Given the description of an element on the screen output the (x, y) to click on. 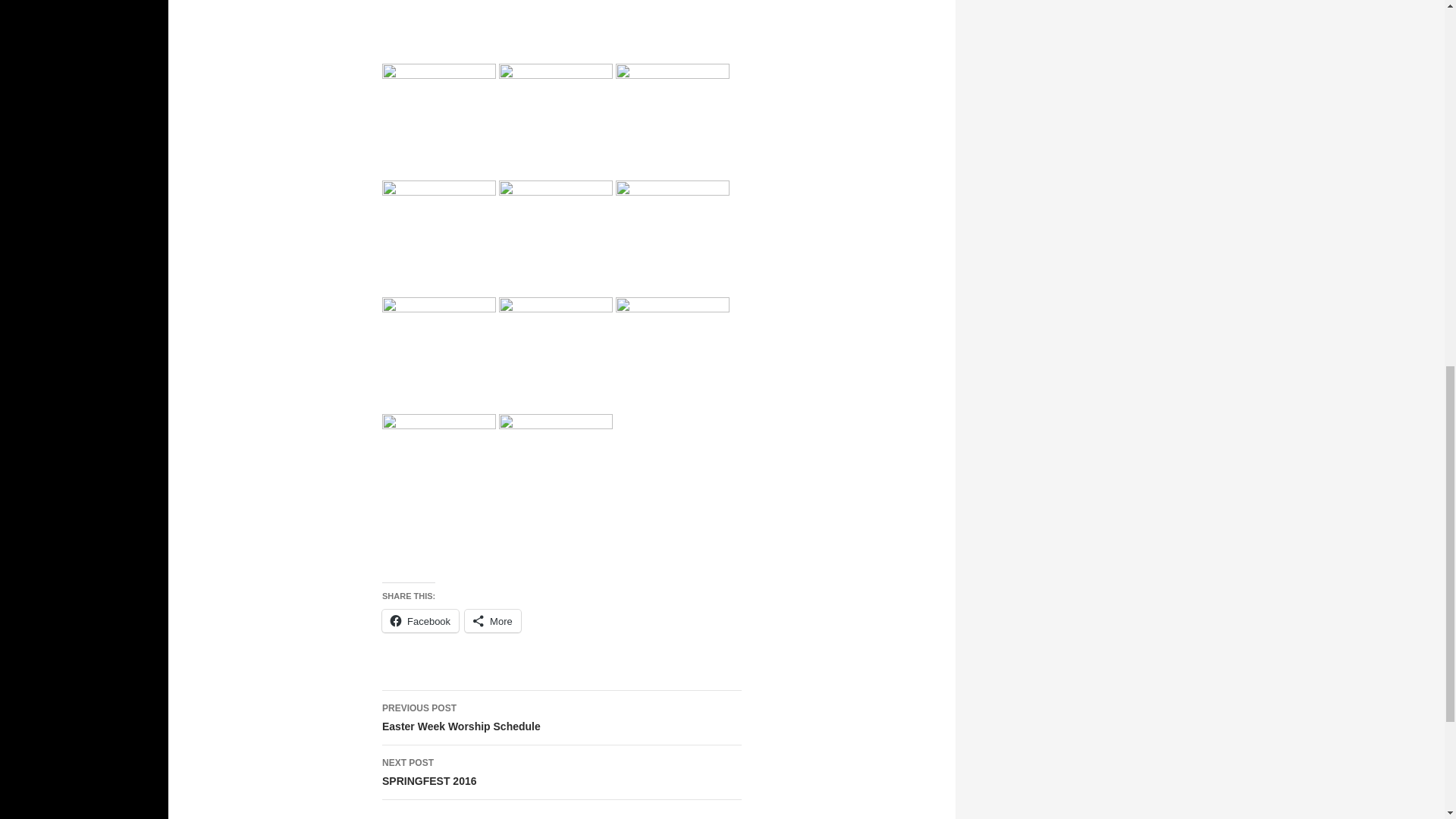
More (492, 620)
Click to share on Facebook (419, 620)
Facebook (561, 718)
